Given the description of an element on the screen output the (x, y) to click on. 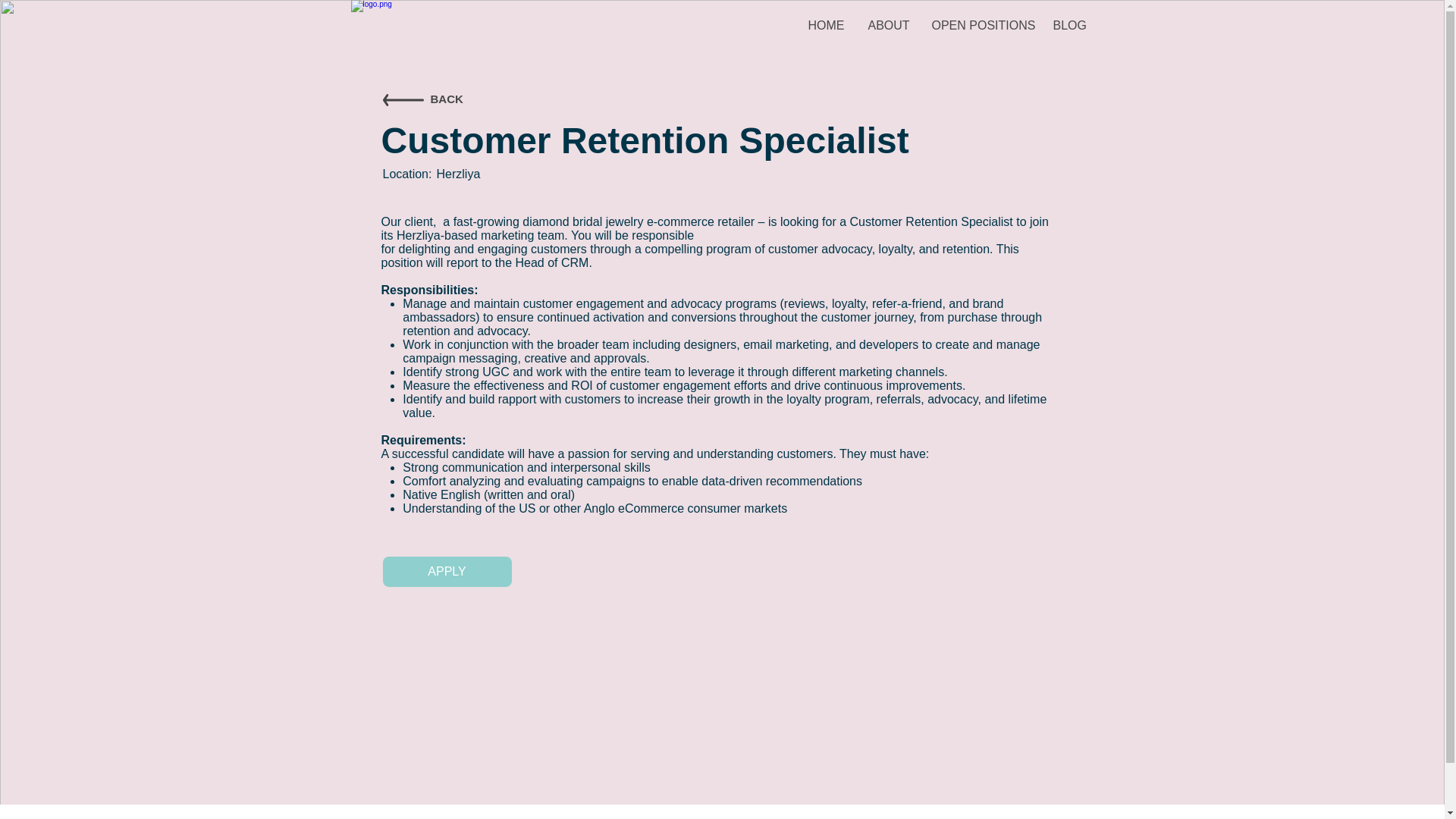
BLOG (1069, 25)
BACK (446, 99)
HOME (826, 25)
ABOUT (888, 25)
OPEN POSITIONS (981, 25)
